Given the description of an element on the screen output the (x, y) to click on. 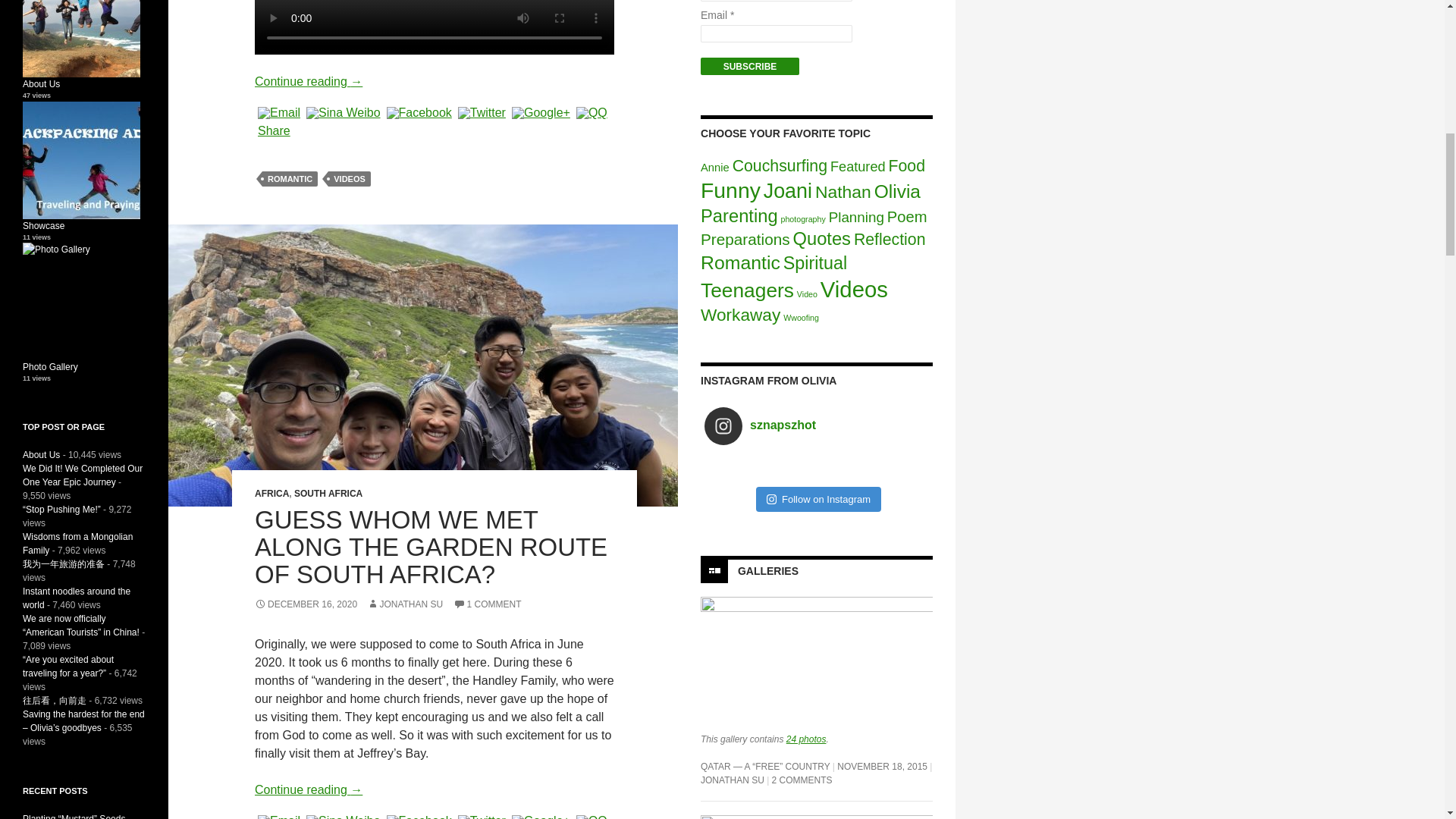
Sina Weibo (343, 112)
Subscribe (749, 66)
QQ (591, 112)
Sina Weibo (343, 816)
Facebook (419, 816)
Email (278, 816)
Twitter (481, 816)
QQ (591, 816)
Facebook (419, 112)
Email (278, 112)
Twitter (481, 112)
